Given the description of an element on the screen output the (x, y) to click on. 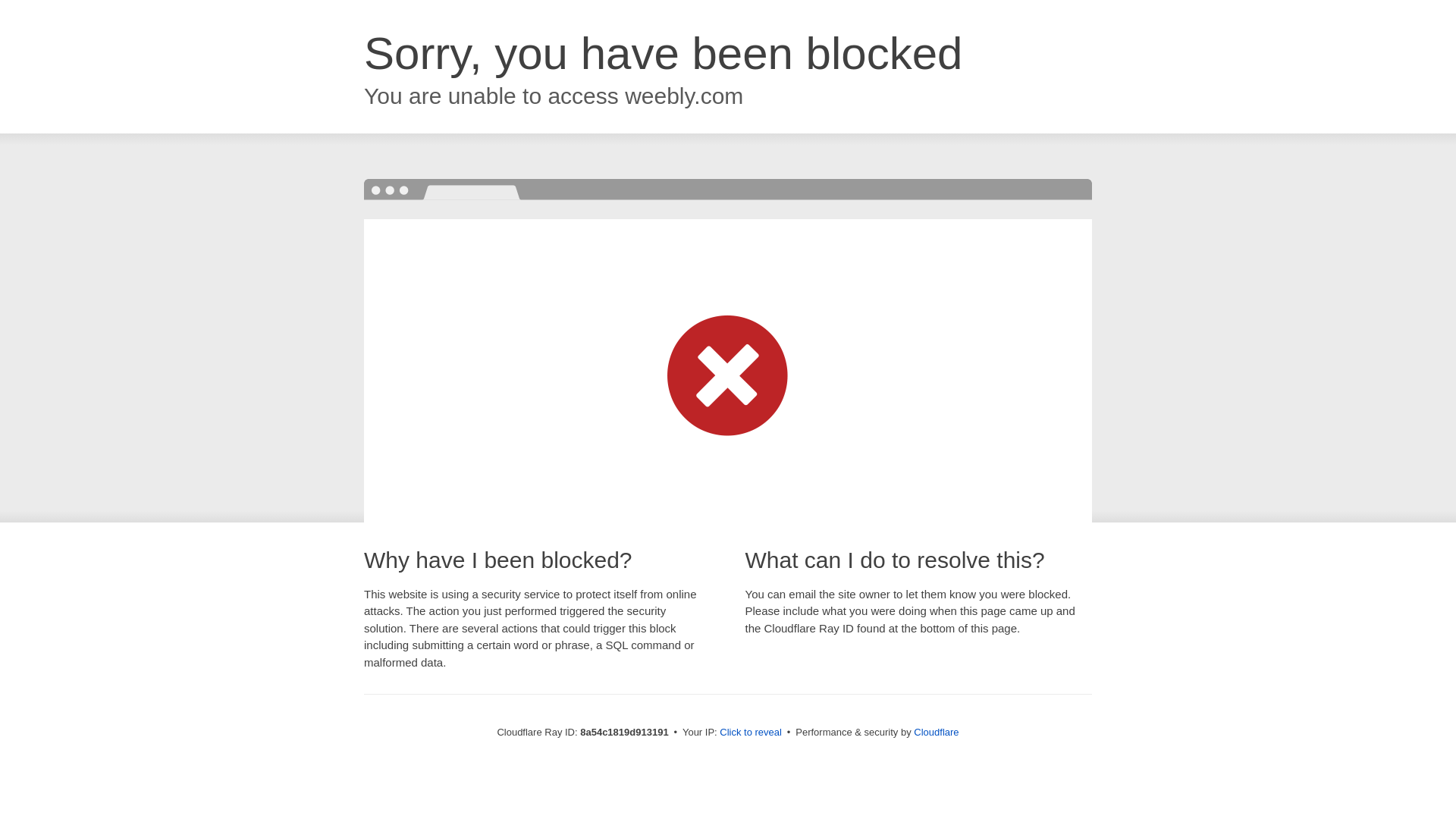
Cloudflare (936, 731)
Click to reveal (750, 732)
